Given the description of an element on the screen output the (x, y) to click on. 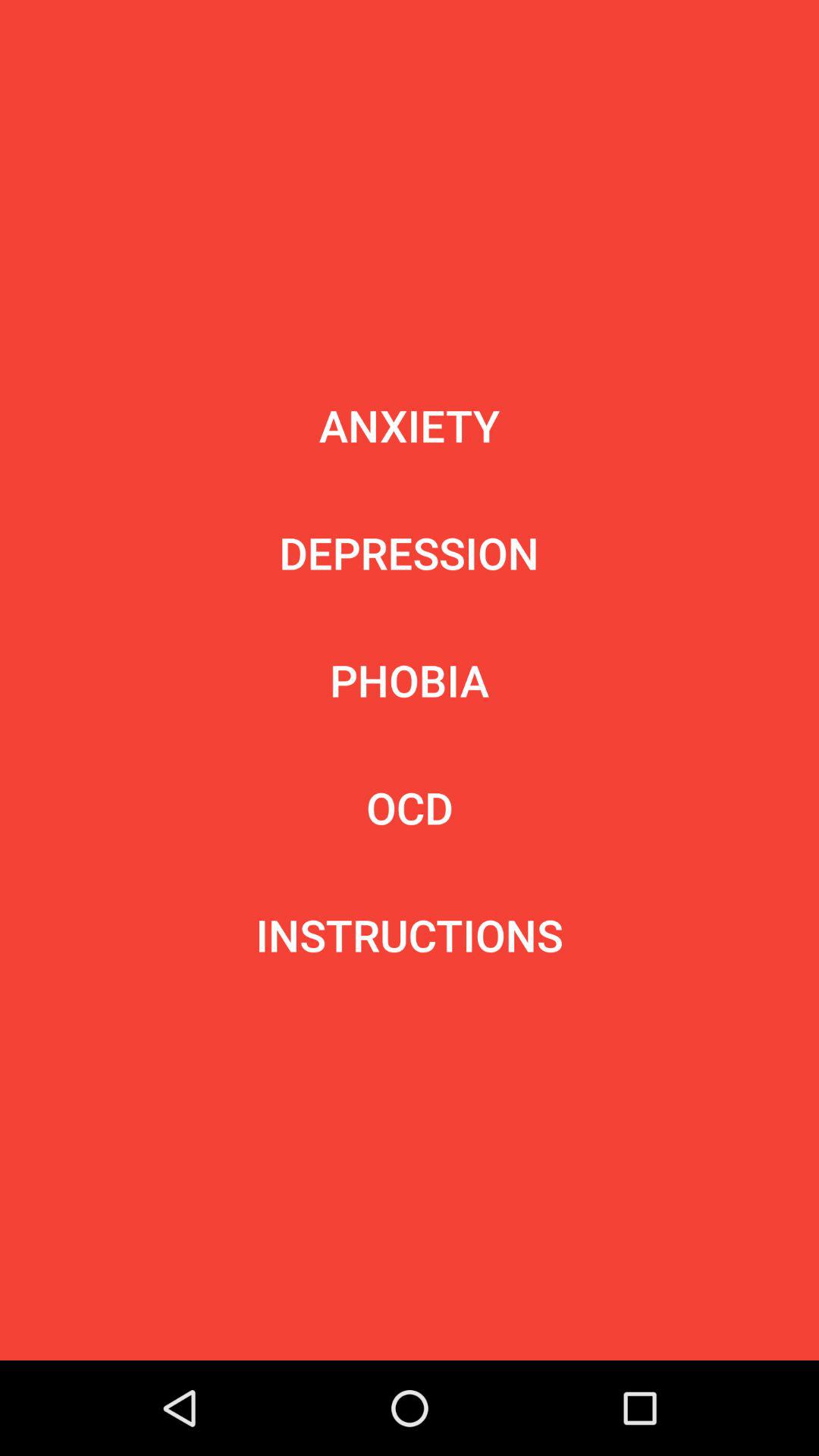
launch anxiety icon (409, 425)
